Given the description of an element on the screen output the (x, y) to click on. 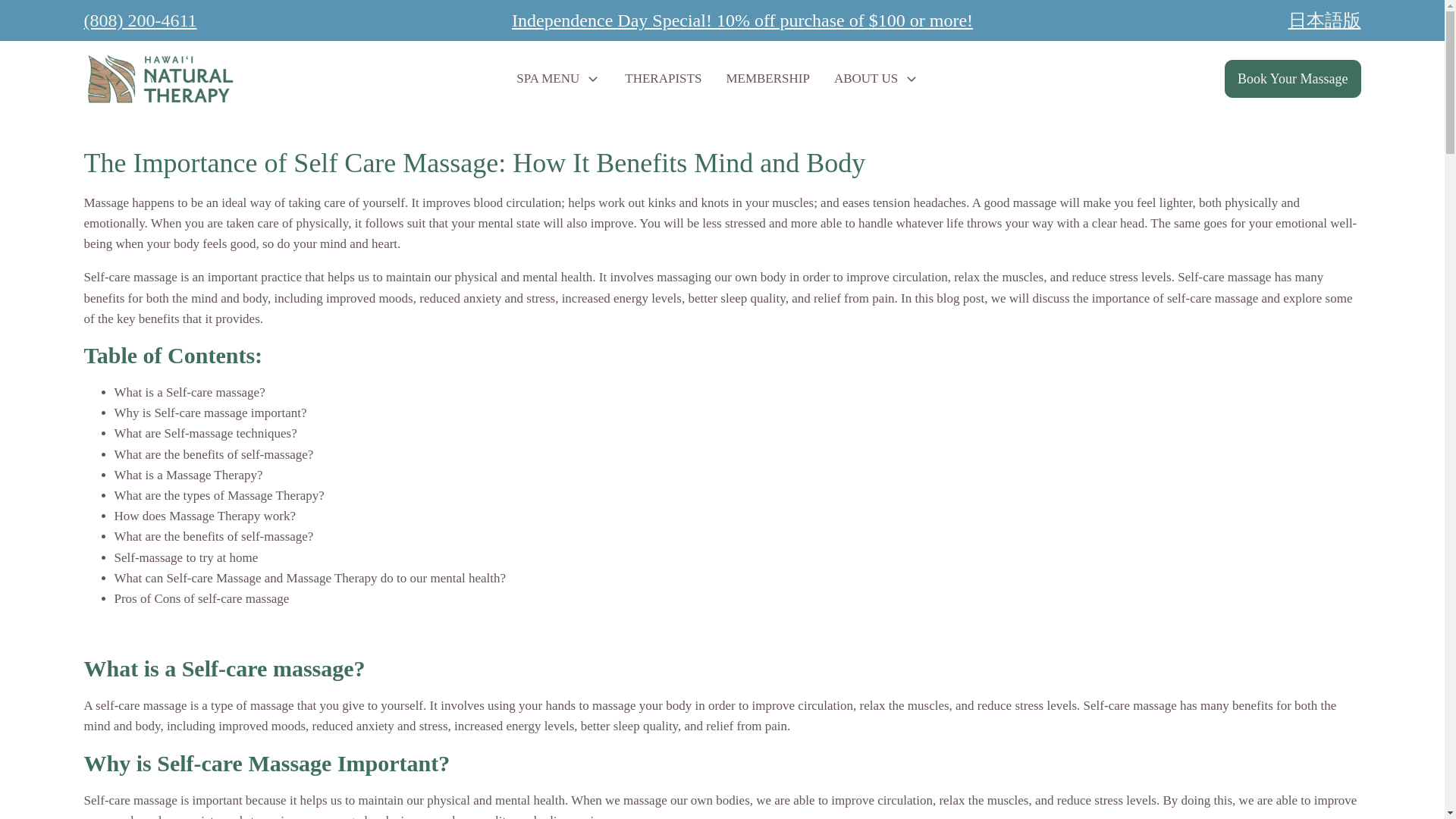
MEMBERSHIP (767, 78)
THERAPISTS (662, 78)
Book Your Massage (1292, 78)
